Given the description of an element on the screen output the (x, y) to click on. 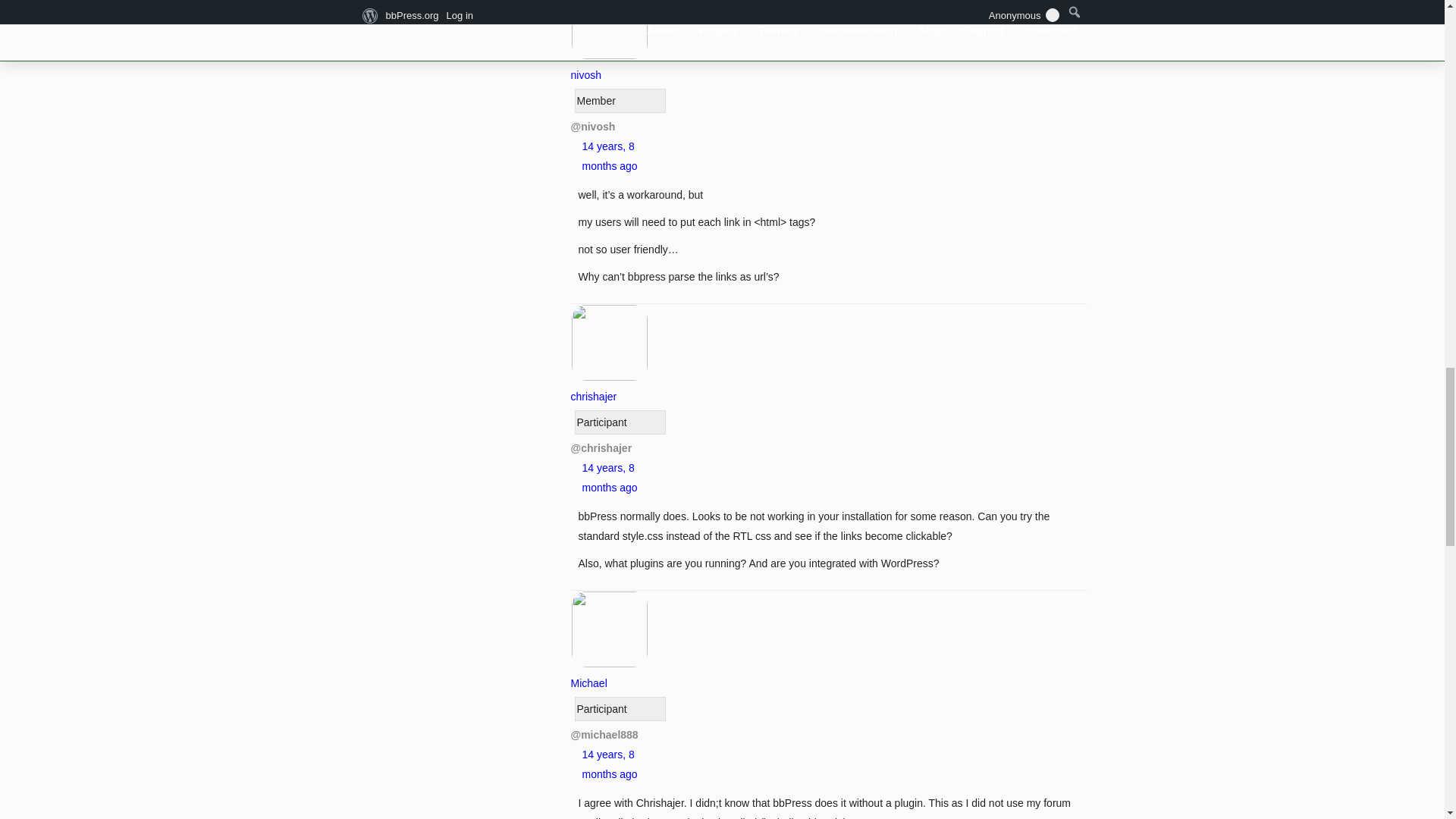
14 years, 8 months ago (609, 155)
chrishajer (608, 386)
14 years, 8 months ago (609, 764)
Michael (608, 673)
14 years, 8 months ago (609, 477)
nivosh (608, 65)
